Given the description of an element on the screen output the (x, y) to click on. 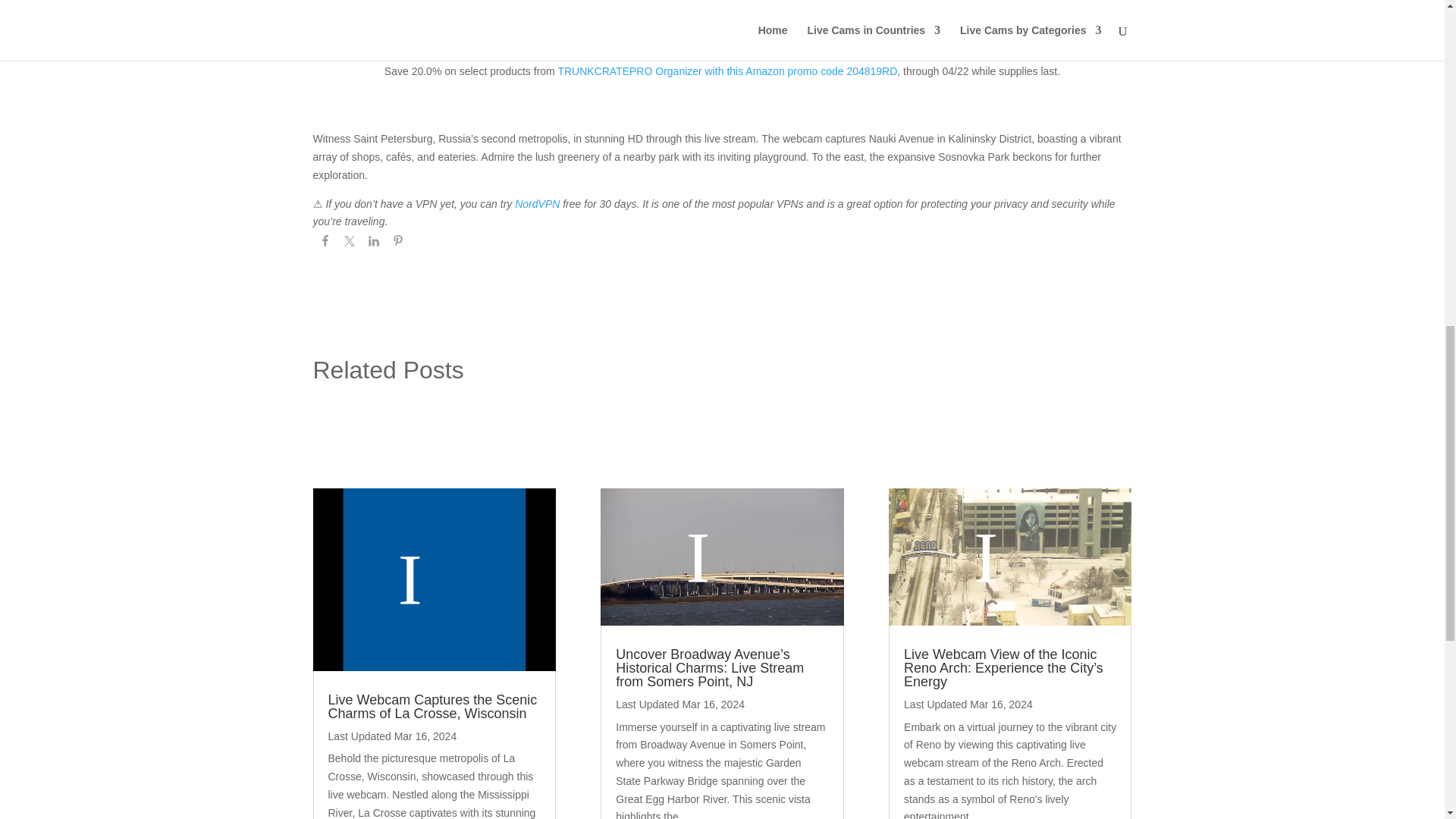
News 8 Now City Cam Live Stream (433, 579)
Share on Twitter (348, 242)
Gardens State Parkway Bridge over the Egg Harbor River (721, 556)
Share on Pinterest (397, 242)
Share on LinkedIn (373, 242)
Share on Facebook (324, 242)
